Given the description of an element on the screen output the (x, y) to click on. 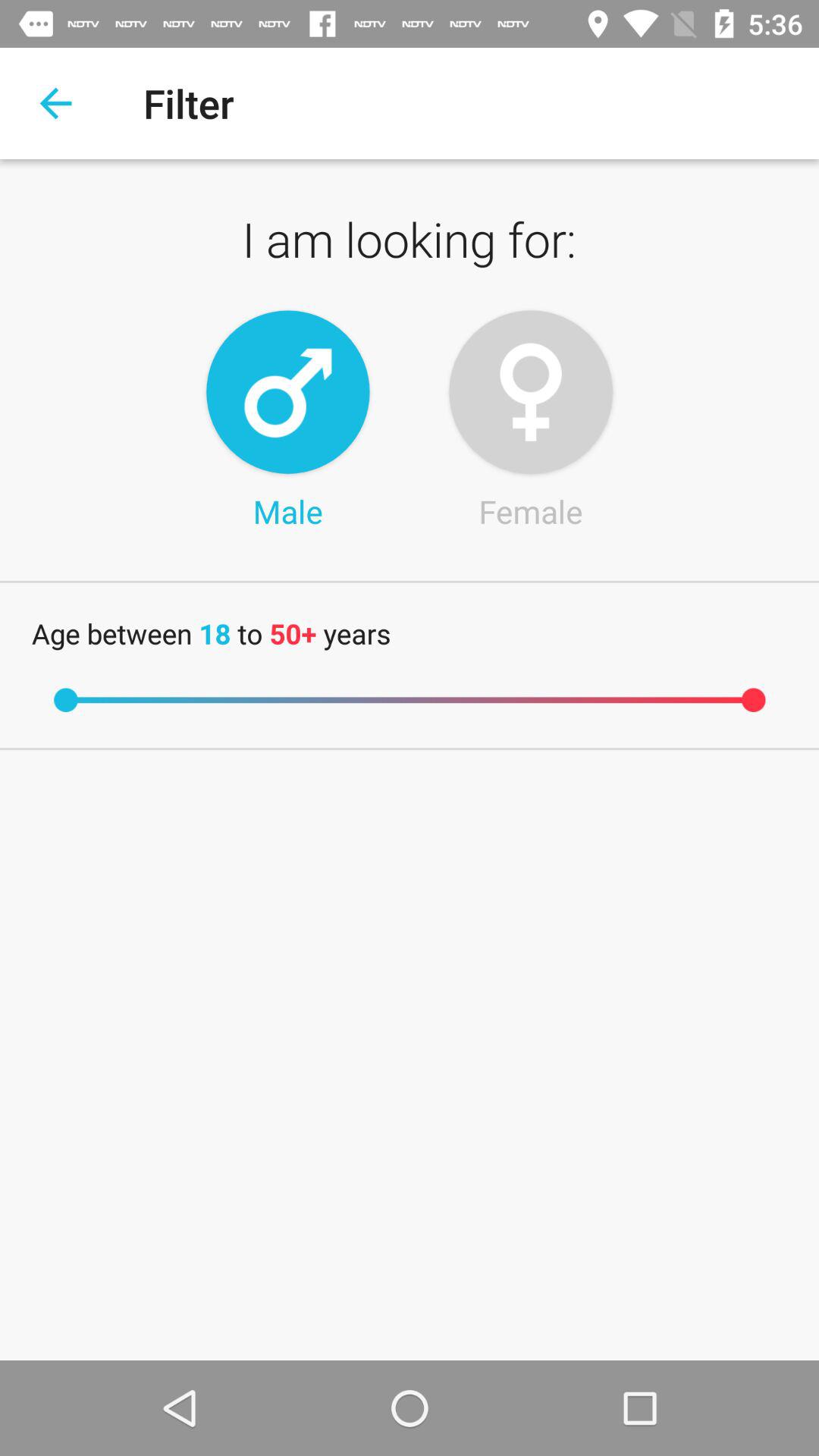
select icon next to the filter icon (55, 103)
